Given the description of an element on the screen output the (x, y) to click on. 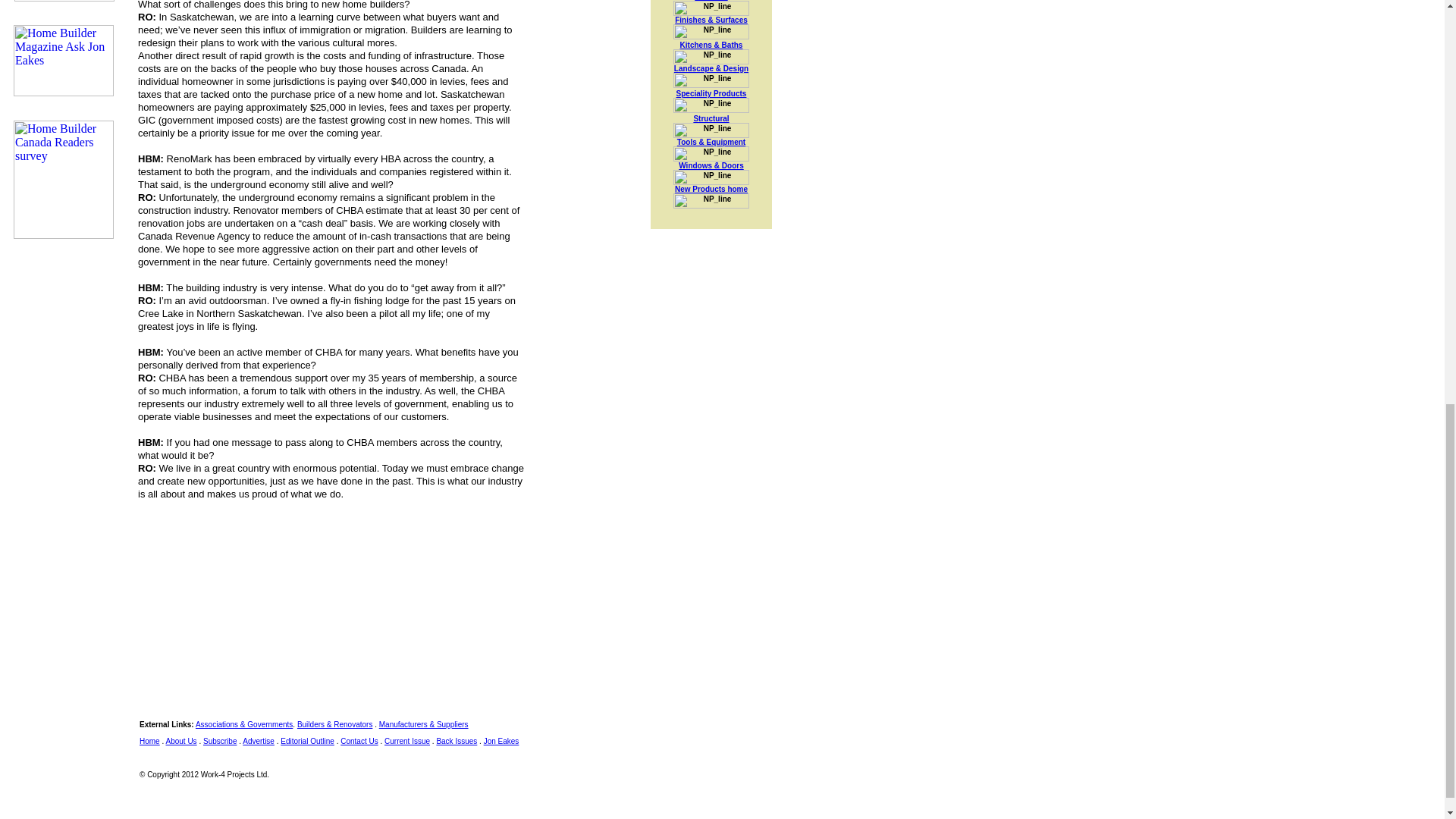
Home (149, 741)
Editorial Outline (307, 741)
Speciality Products (711, 93)
New Products home (711, 189)
Current Issue (406, 741)
Jon Eakes (501, 741)
About Us (180, 741)
Advertise (259, 741)
Subscribe (219, 741)
Back Issues (456, 741)
